Given the description of an element on the screen output the (x, y) to click on. 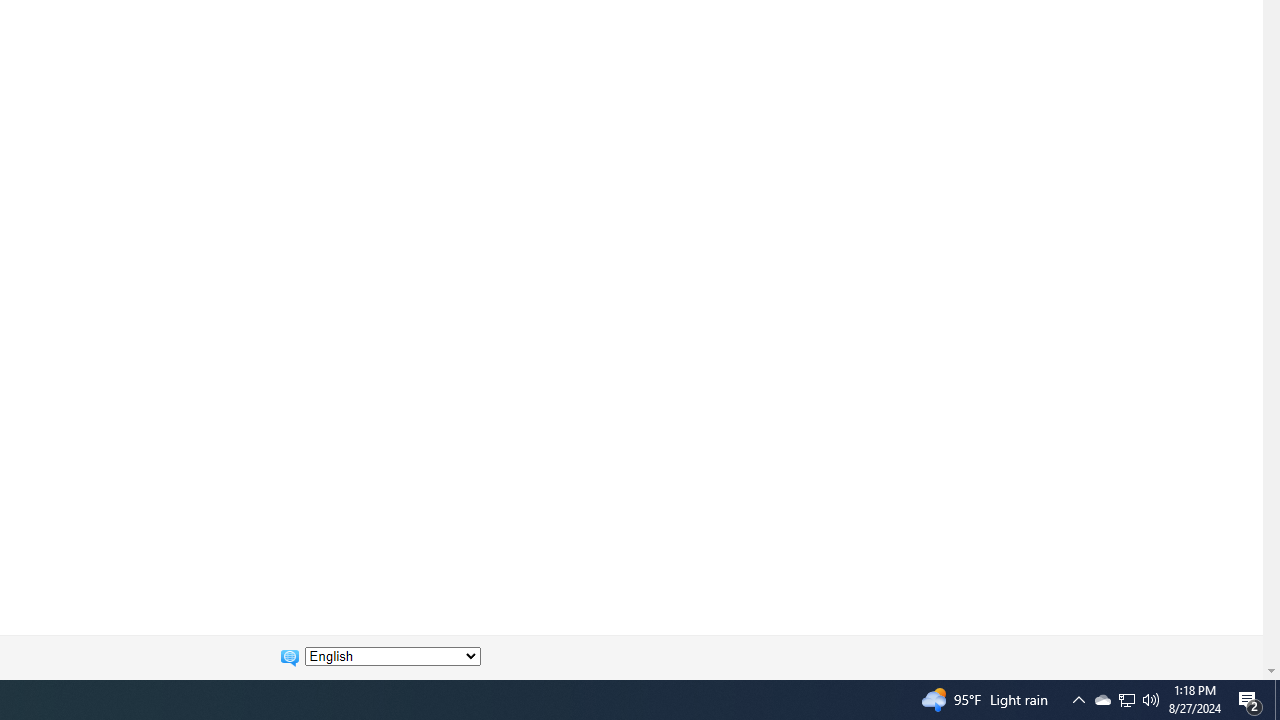
Change language: (392, 656)
